Given the description of an element on the screen output the (x, y) to click on. 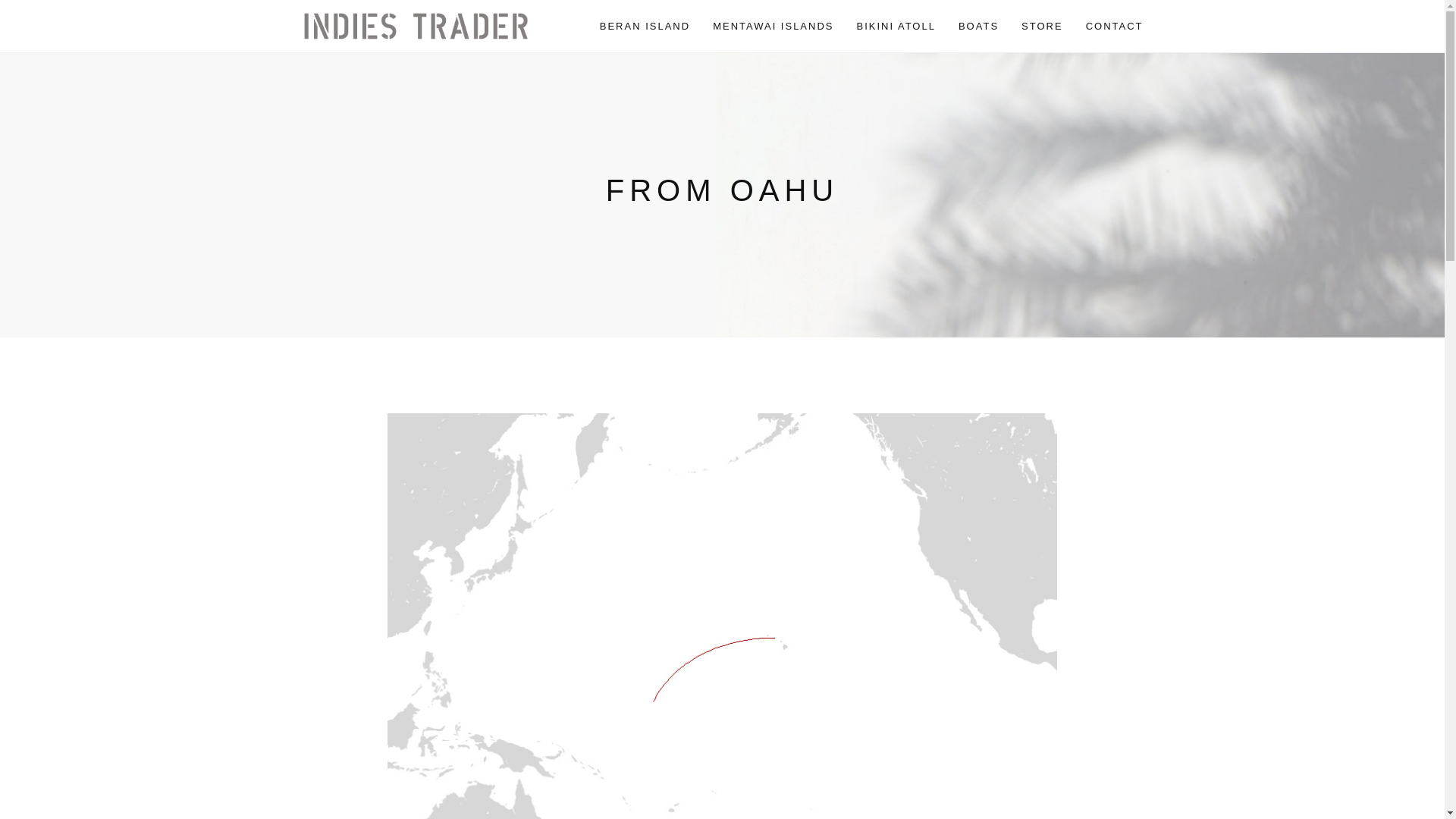
MENTAWAI ISLANDS (772, 26)
BERAN ISLAND (644, 26)
CONTACT (1114, 26)
BIKINI ATOLL (896, 26)
